Given the description of an element on the screen output the (x, y) to click on. 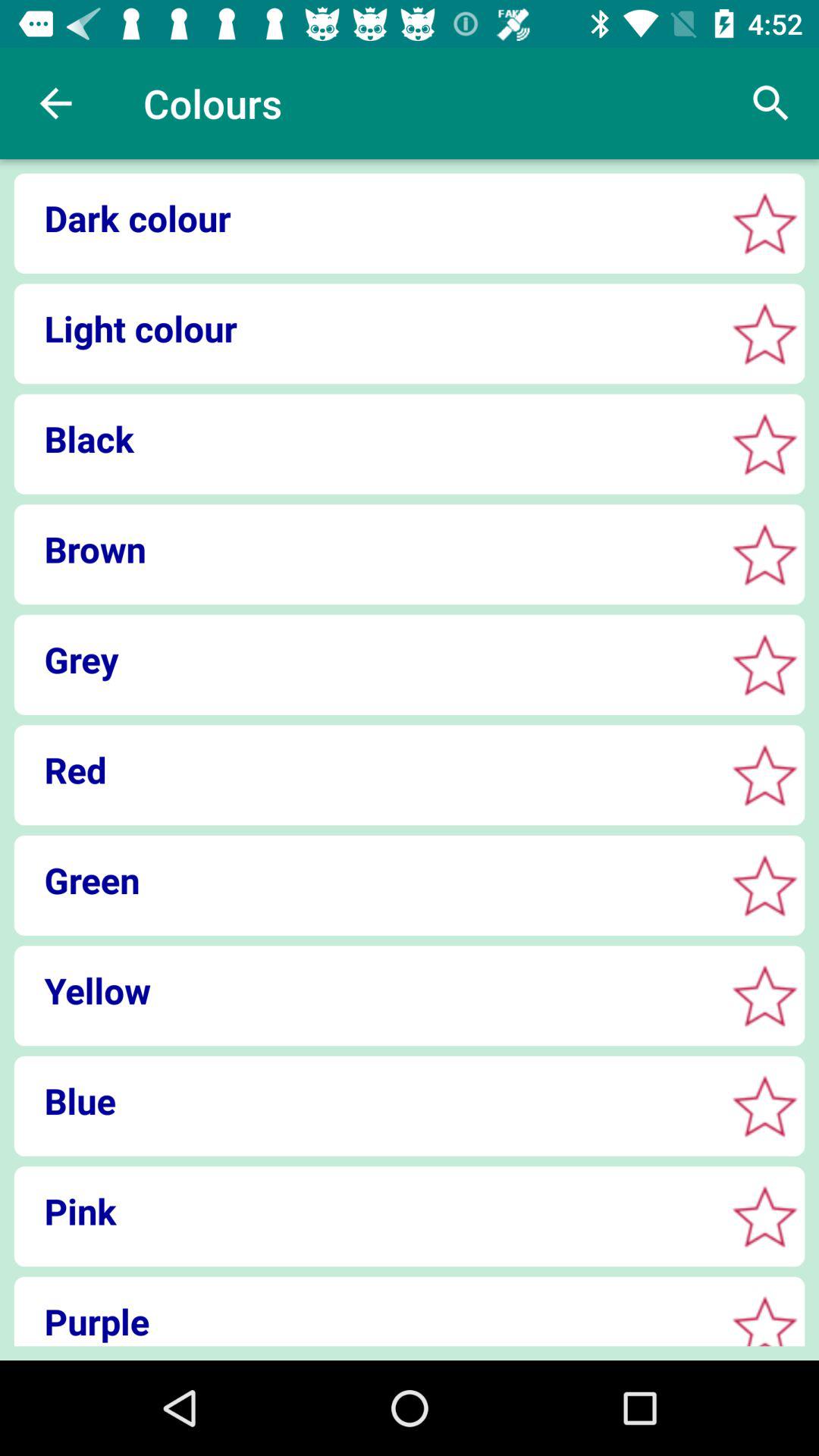
choose pink color (764, 1216)
